Given the description of an element on the screen output the (x, y) to click on. 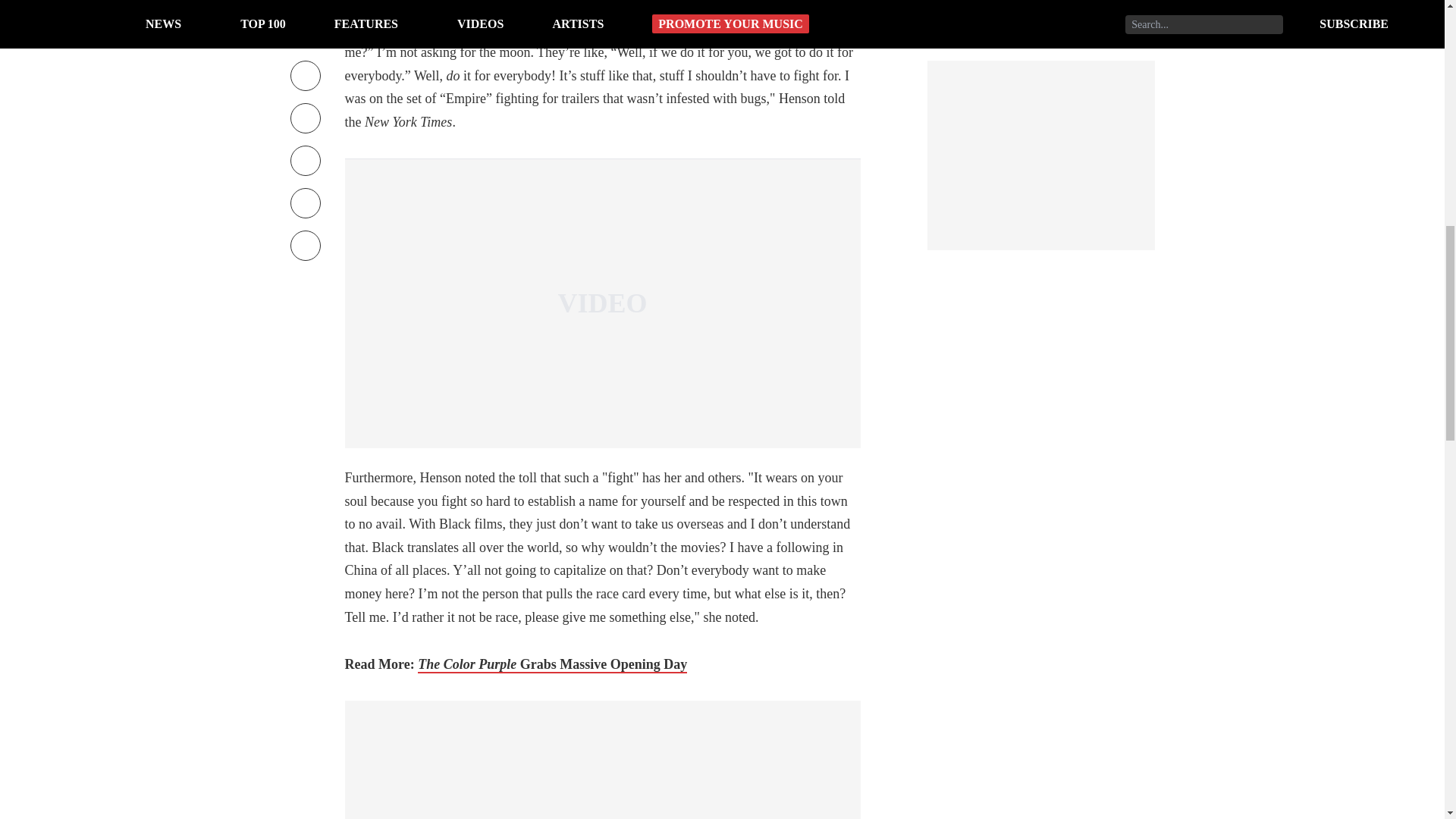
The Color Purple Grabs Massive Opening Day (552, 664)
